Given the description of an element on the screen output the (x, y) to click on. 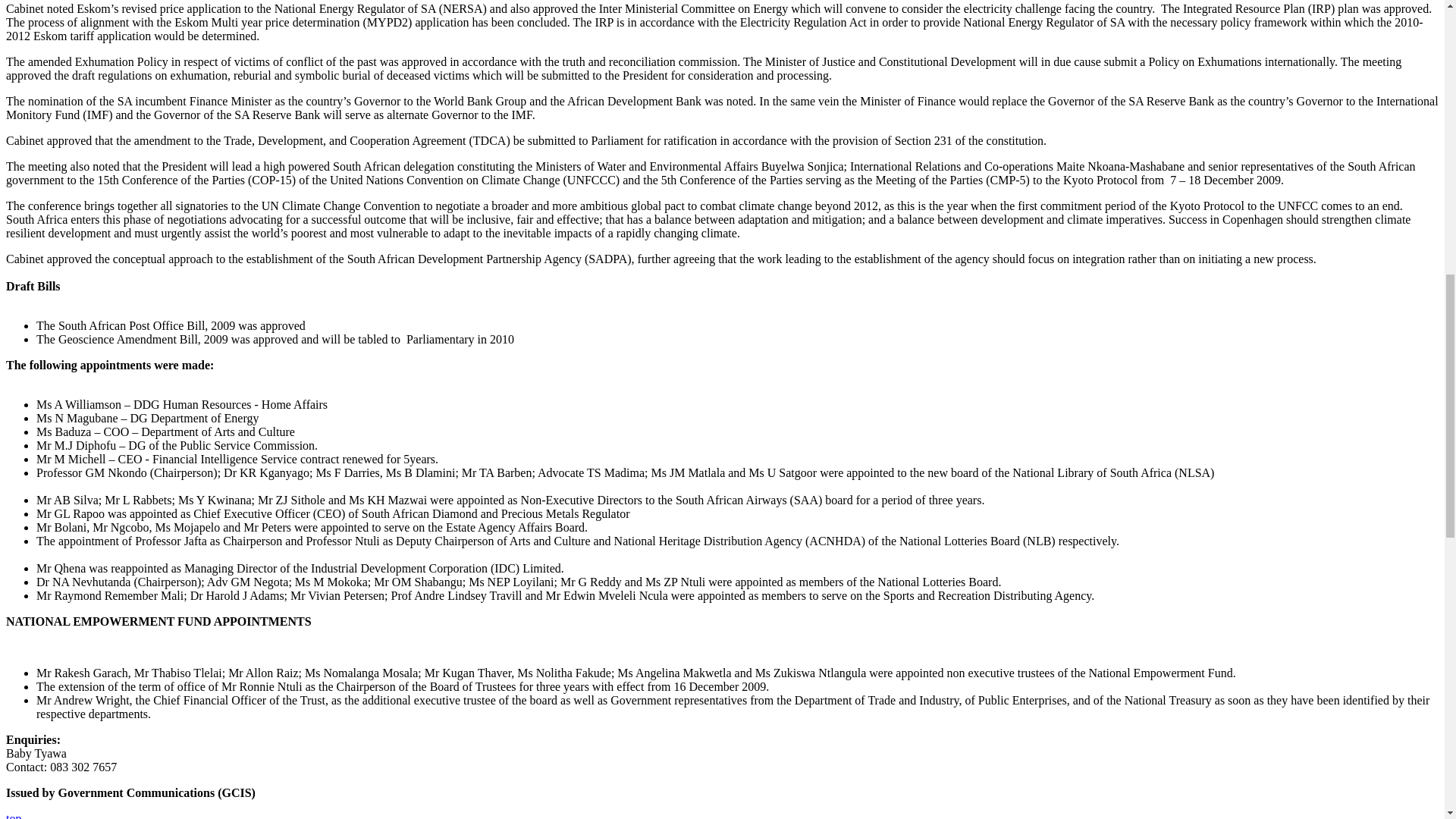
top (13, 815)
